Given the description of an element on the screen output the (x, y) to click on. 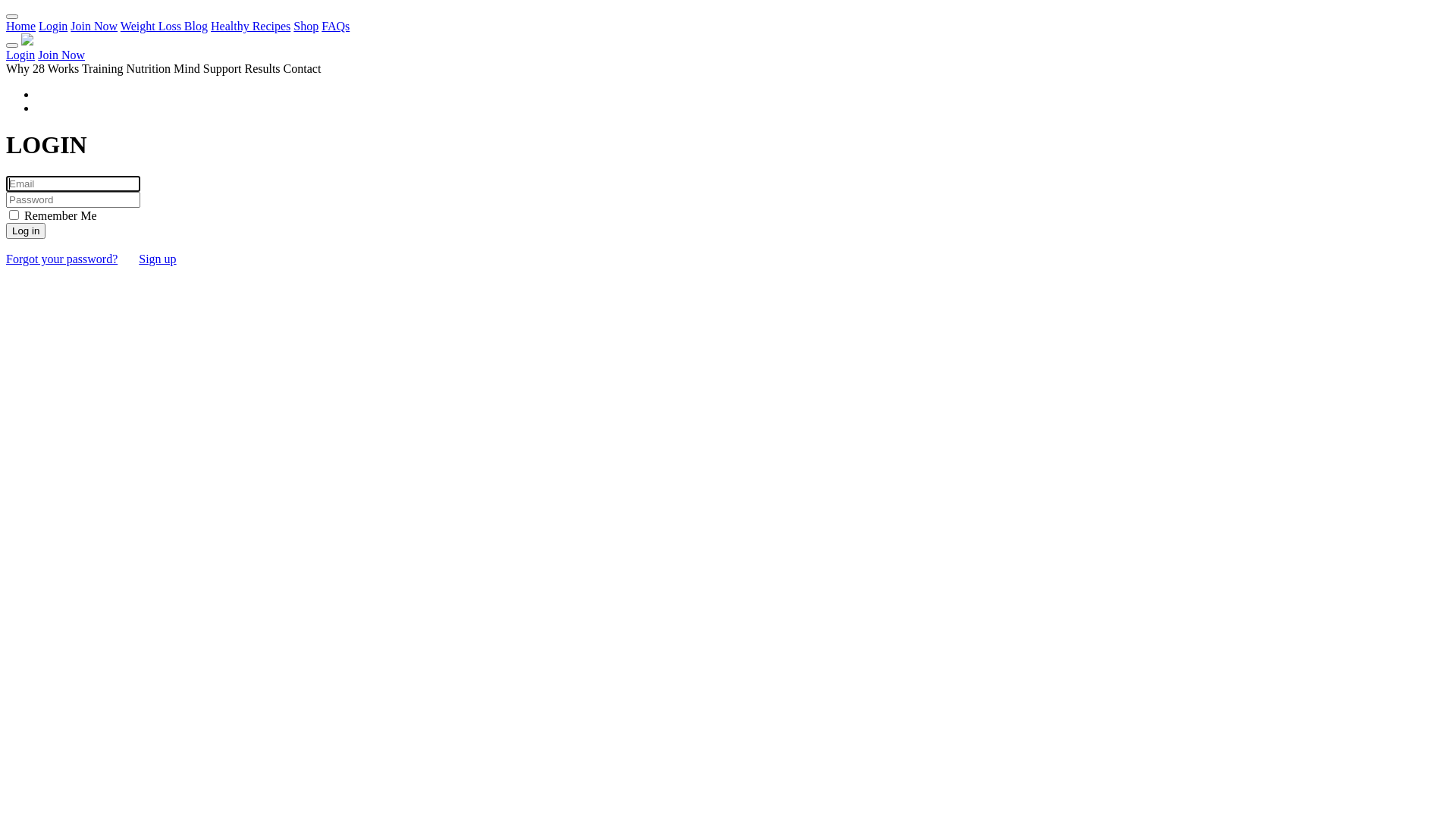
Mind Element type: text (186, 68)
Nutrition Element type: text (147, 68)
Why 28 Works Element type: text (42, 68)
Login Element type: text (20, 54)
Home Element type: text (20, 25)
Results Element type: text (261, 68)
Join Now Element type: text (60, 54)
Weight Loss Blog Element type: text (163, 25)
Forgot your password? Element type: text (61, 258)
Support Element type: text (222, 68)
Log in Element type: text (25, 230)
Healthy Recipes Element type: text (250, 25)
Shop Element type: text (305, 25)
Login Element type: text (52, 25)
Join Now Element type: text (93, 25)
Training Element type: text (102, 68)
Sign up Element type: text (156, 258)
FAQs Element type: text (335, 25)
Contact Element type: text (302, 68)
